Given the description of an element on the screen output the (x, y) to click on. 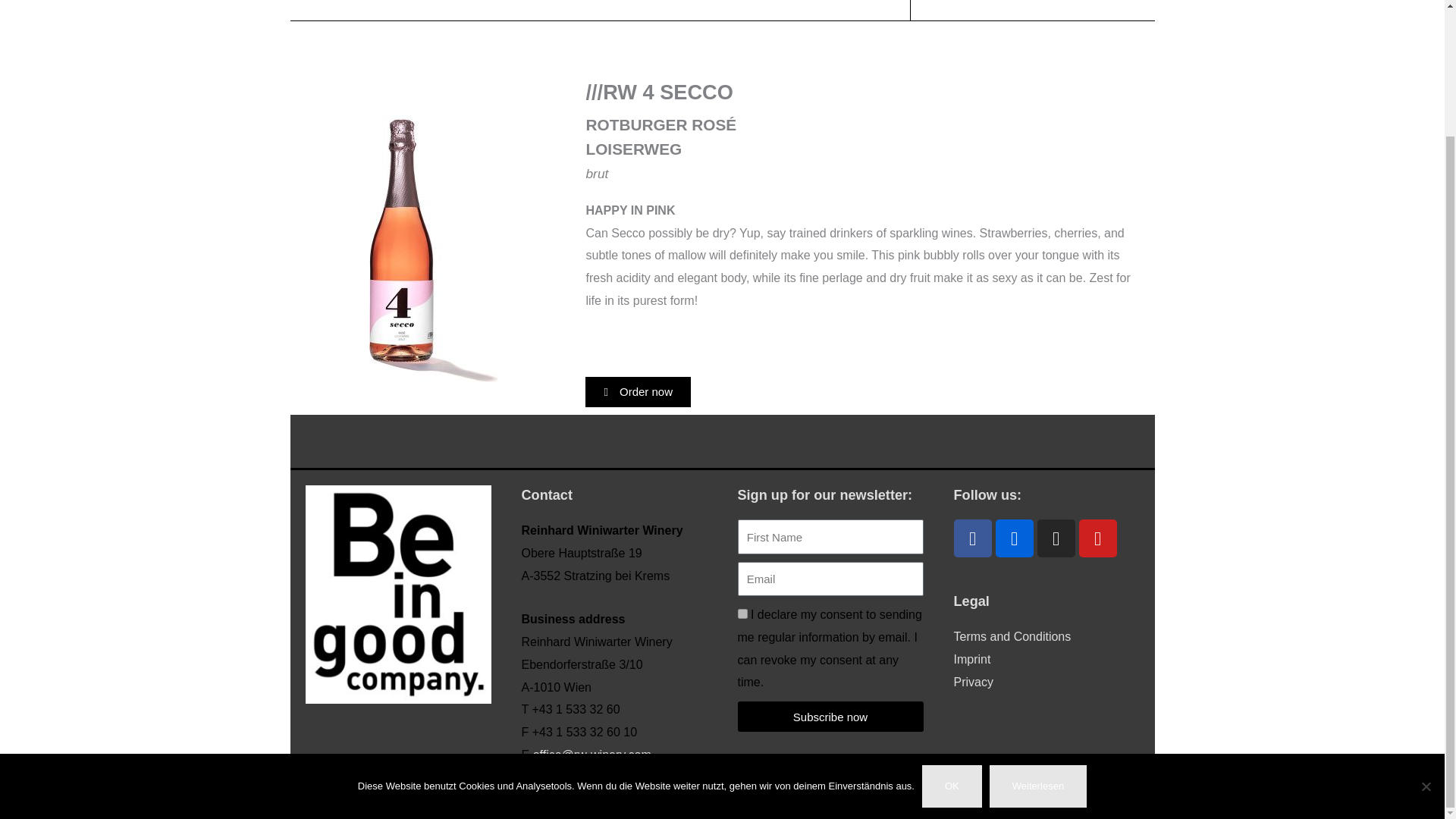
SHOP (617, 10)
DE (889, 10)
Nein (1425, 632)
on (741, 614)
WINERY (546, 10)
Instagram (1055, 538)
EN (931, 10)
WINES (467, 10)
Flickr (1013, 538)
Subscribe now (829, 716)
CONTACT (812, 10)
Order now (637, 391)
Facebook (972, 538)
